Given the description of an element on the screen output the (x, y) to click on. 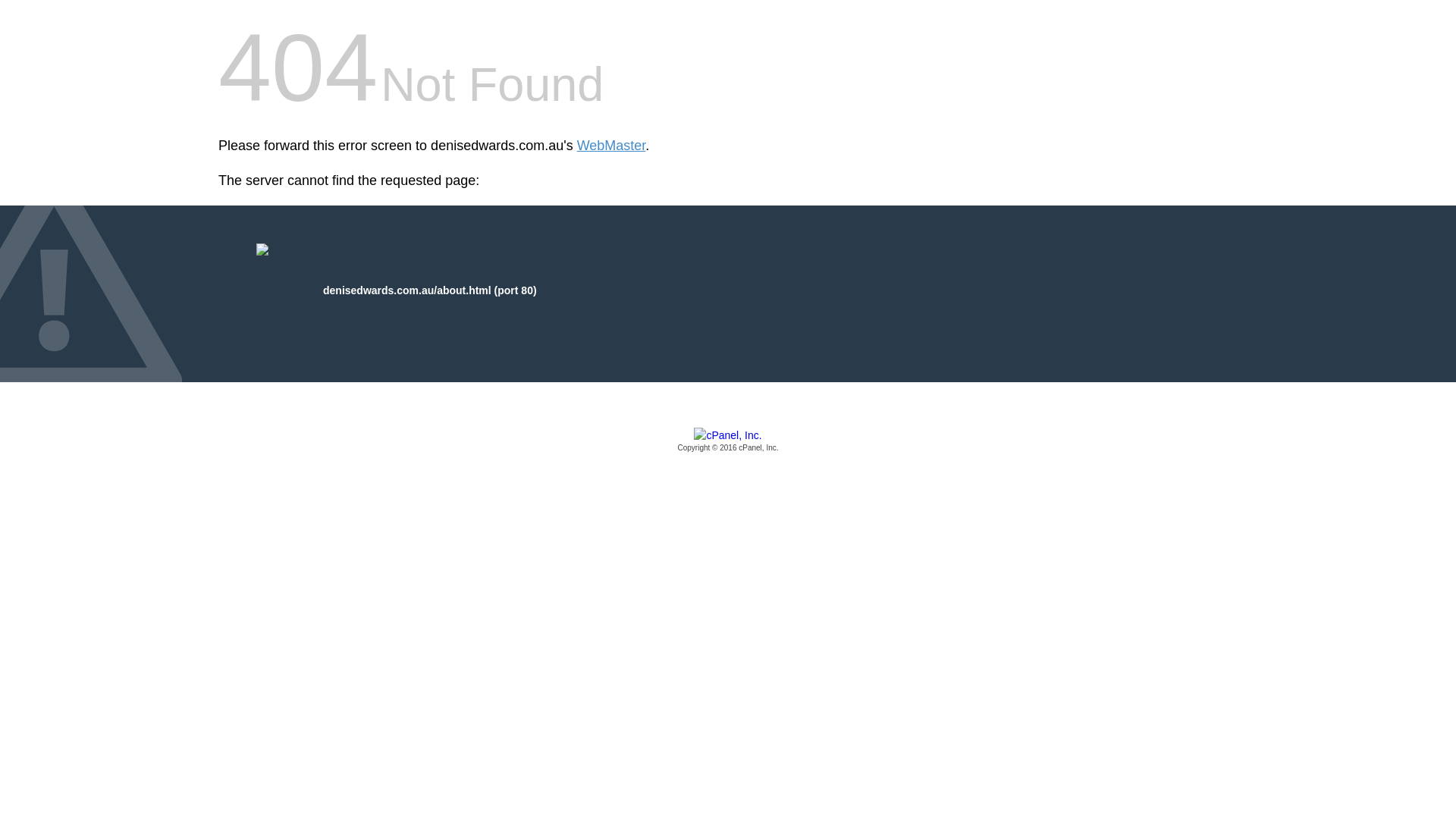
WebMaster Element type: text (611, 145)
